Given the description of an element on the screen output the (x, y) to click on. 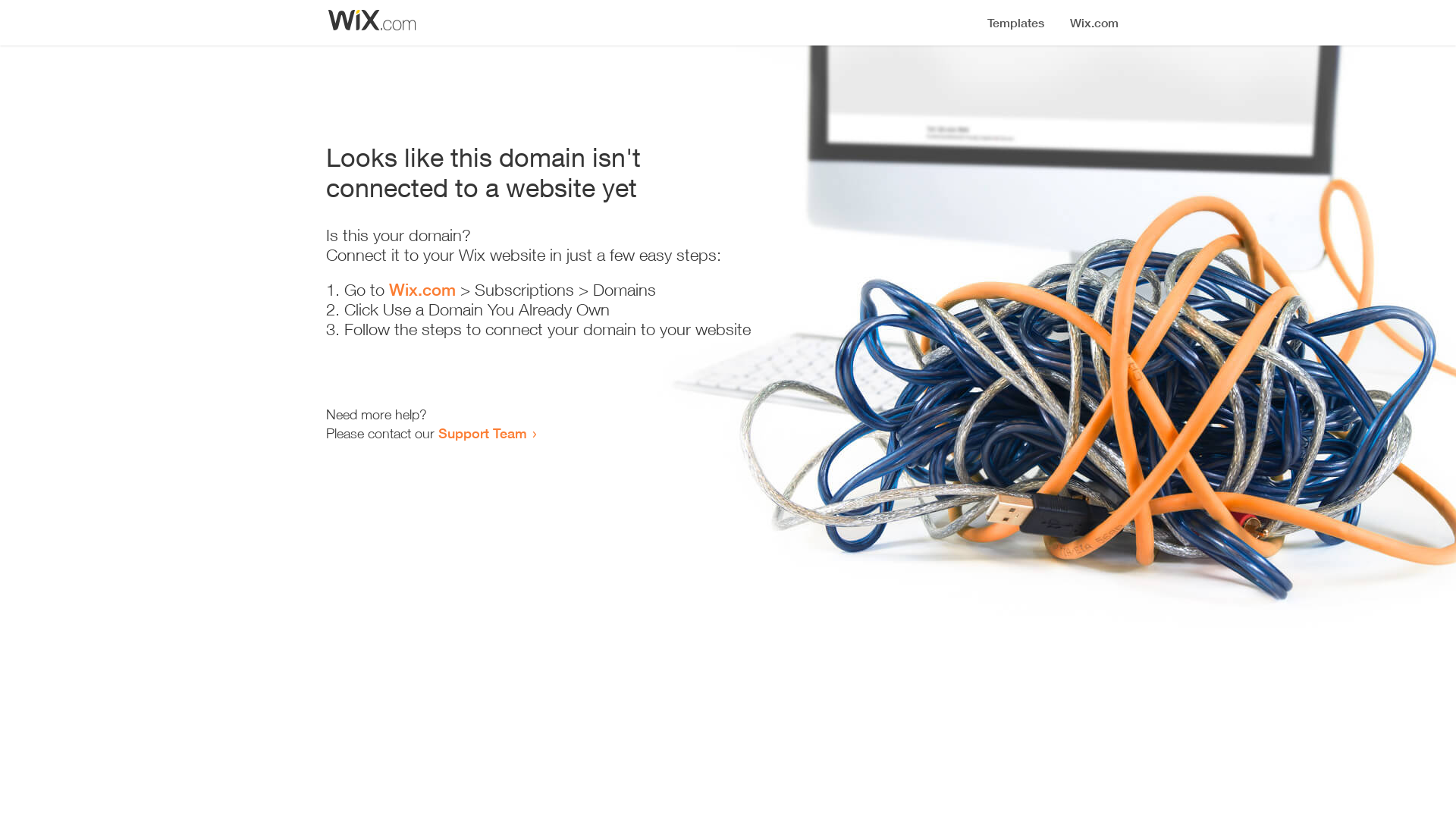
Support Team Element type: text (482, 432)
Wix.com Element type: text (422, 289)
